Given the description of an element on the screen output the (x, y) to click on. 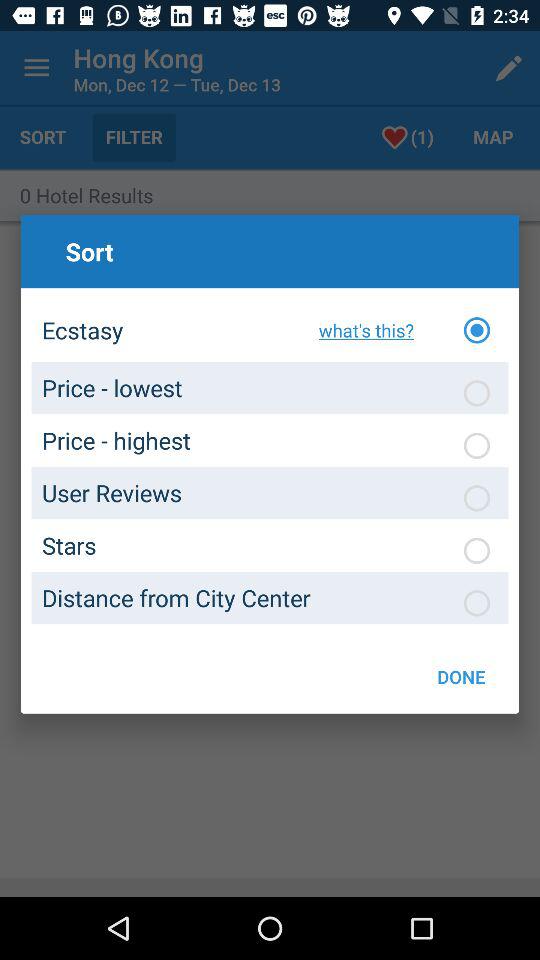
select option (477, 603)
